Given the description of an element on the screen output the (x, y) to click on. 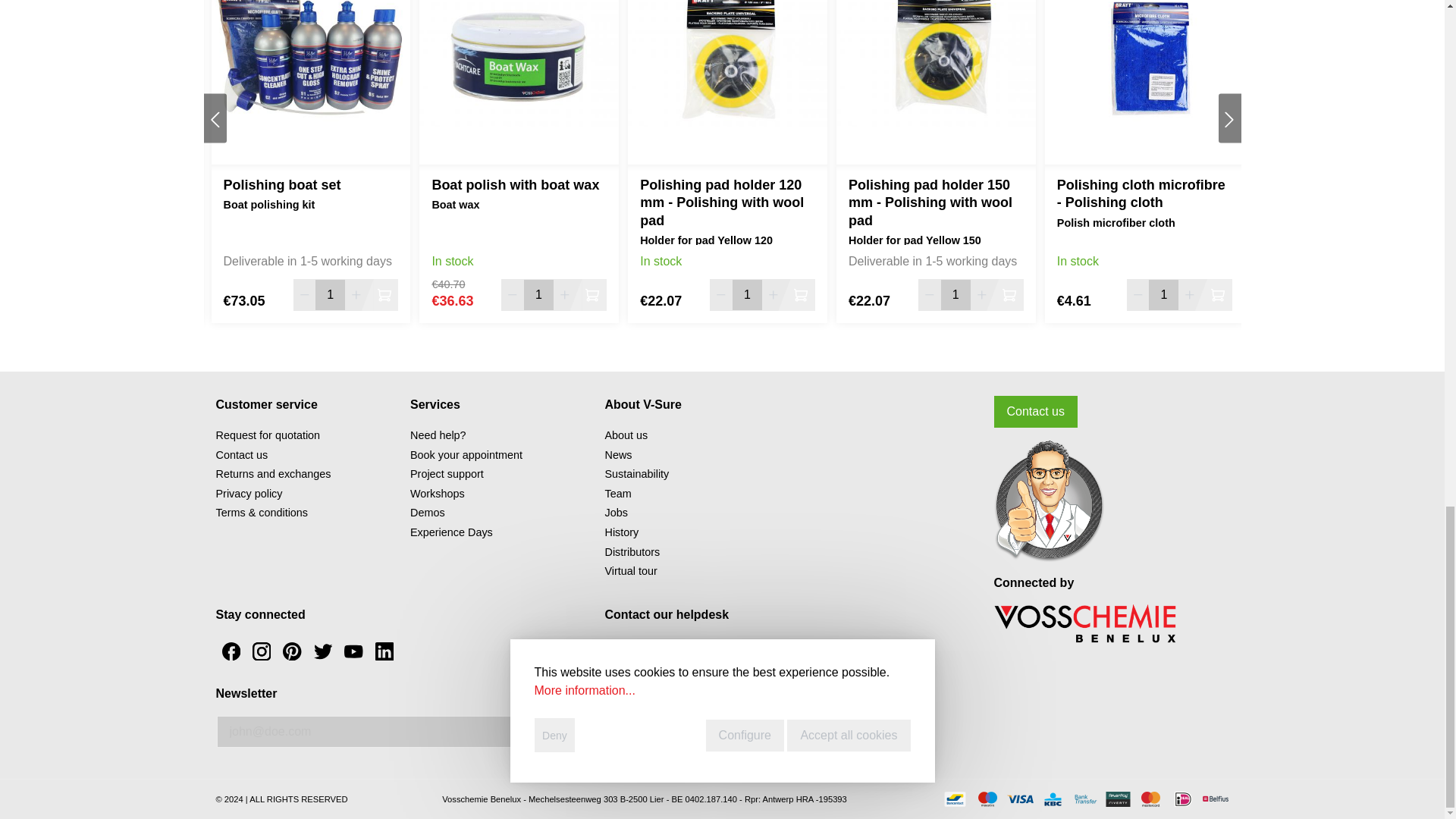
1 (330, 295)
1 (747, 295)
1 (1163, 295)
1 (955, 295)
1 (538, 295)
